Given the description of an element on the screen output the (x, y) to click on. 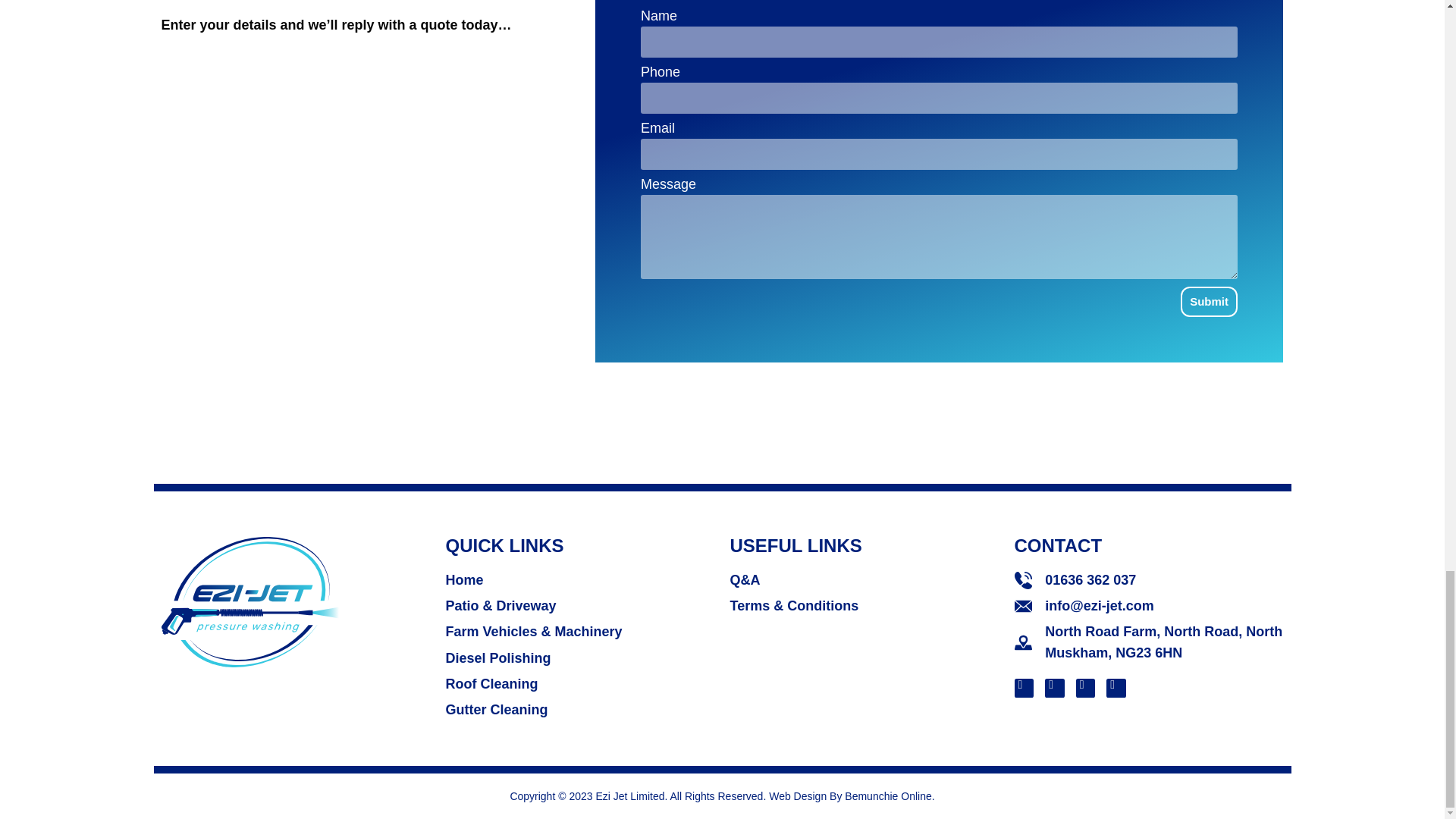
Home (579, 580)
Submit (1208, 301)
